Given the description of an element on the screen output the (x, y) to click on. 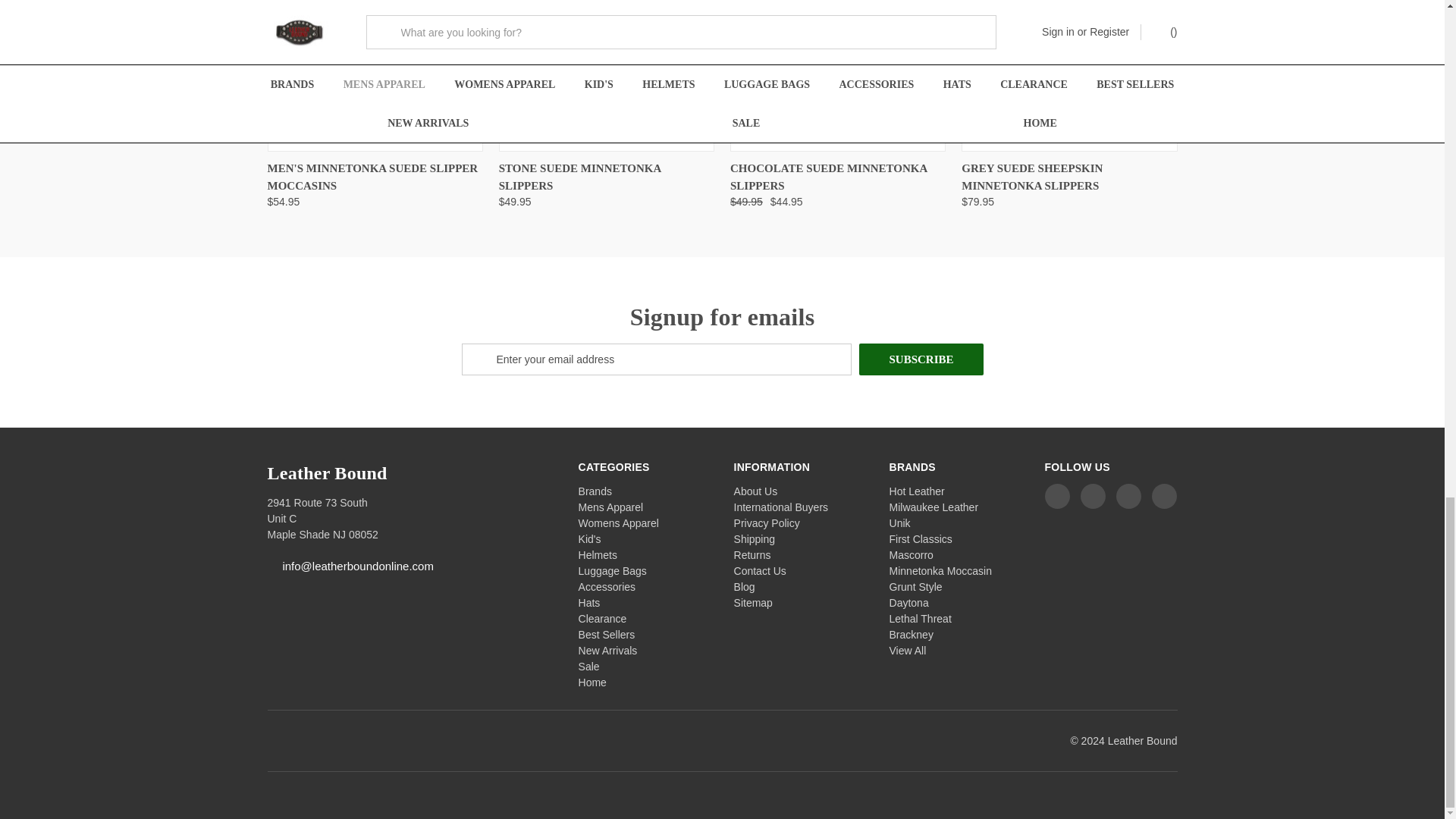
Womens Grey Suede Sheepskin Minnetonka Moccasins (1068, 74)
Minnetonka Moccasin Cally Slippers 4018 Stone Suede (606, 74)
Women's Minnetonka Moccasin Cally Slipper Brown (837, 74)
Subscribe (920, 359)
